Given the description of an element on the screen output the (x, y) to click on. 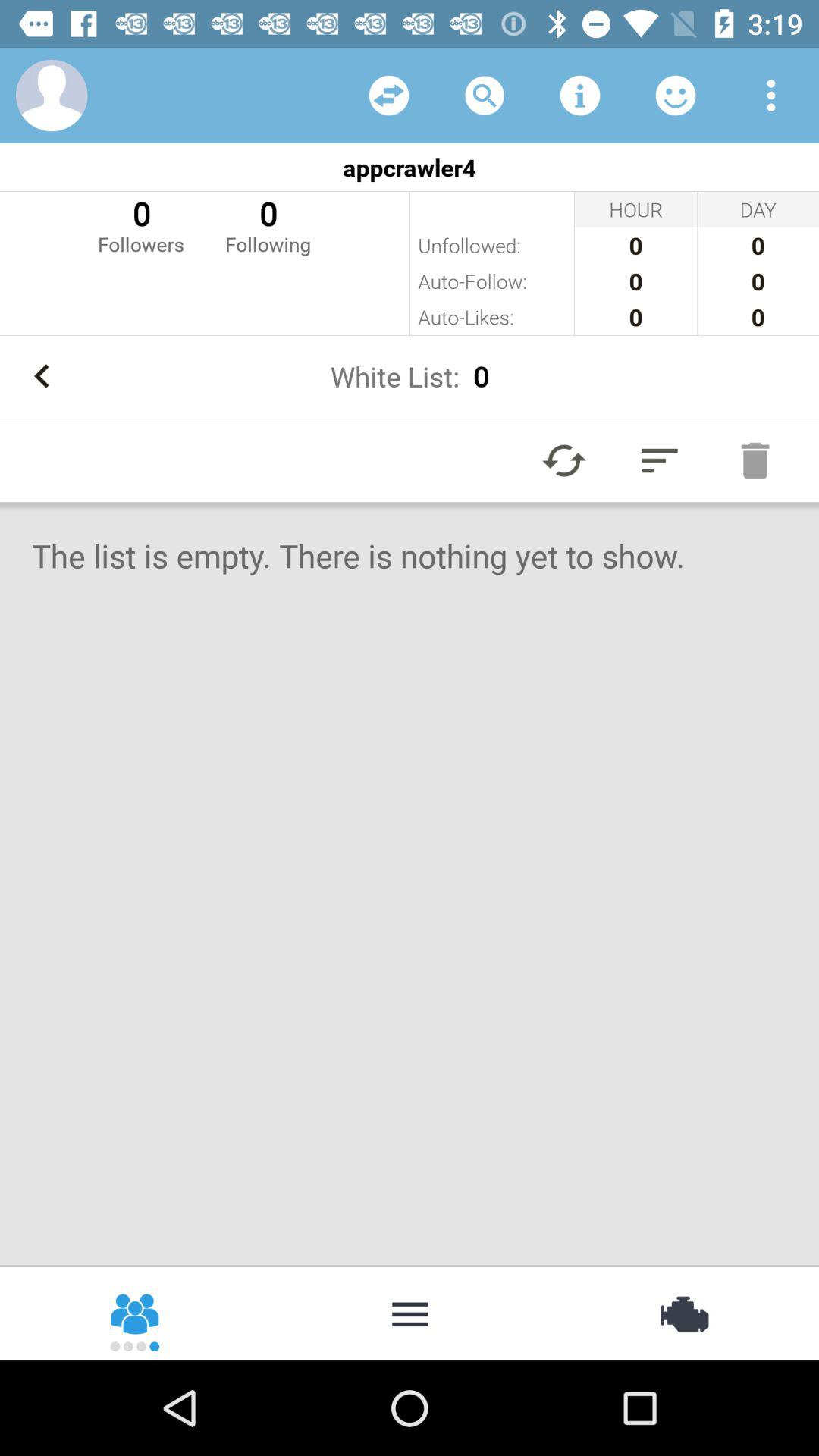
jump until the 0
followers icon (140, 224)
